Given the description of an element on the screen output the (x, y) to click on. 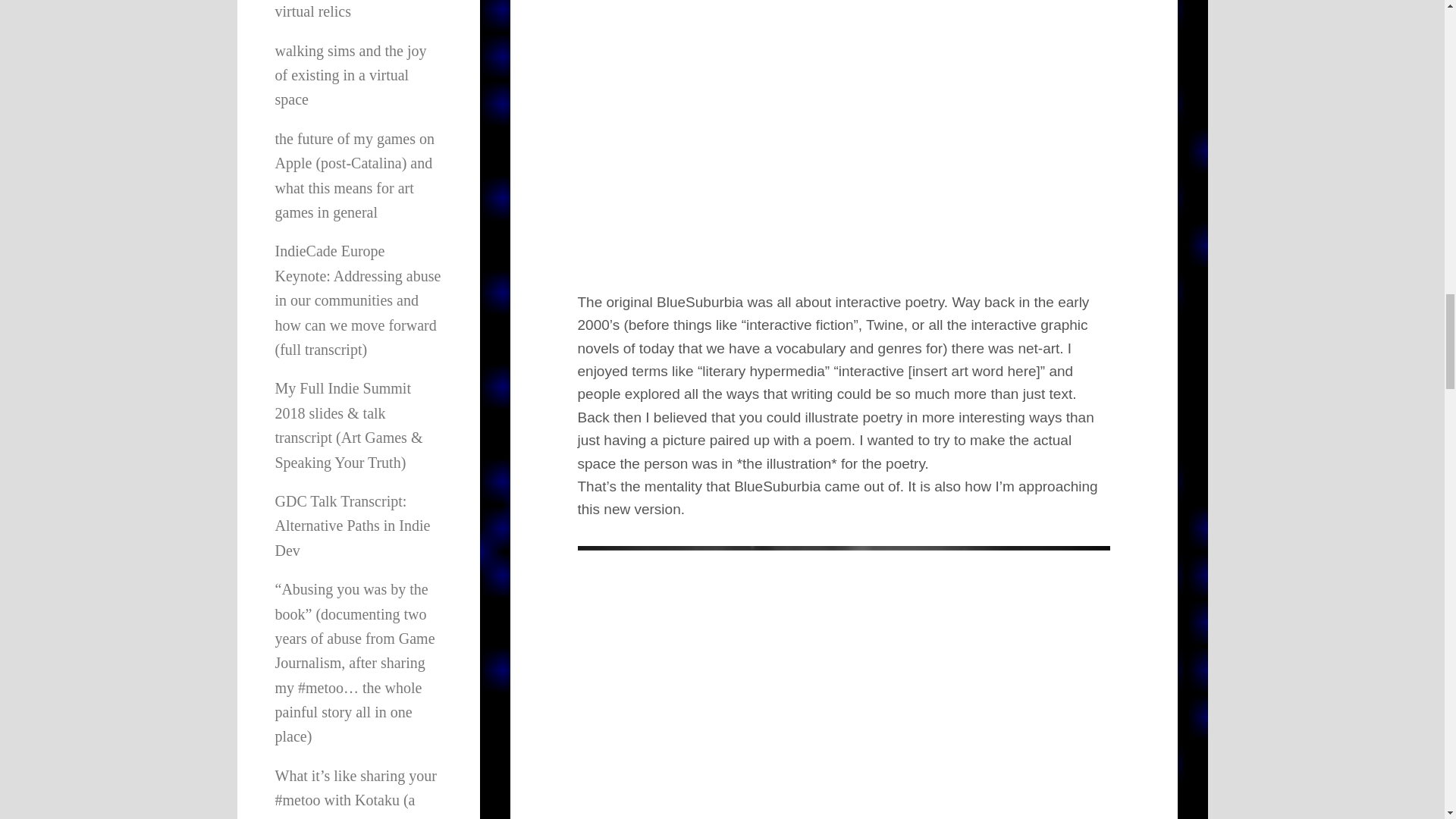
GDC Talk Transcript: Alternative Paths in Indie Dev (352, 525)
walking sims and the joy of existing in a virtual space (350, 75)
